Given the description of an element on the screen output the (x, y) to click on. 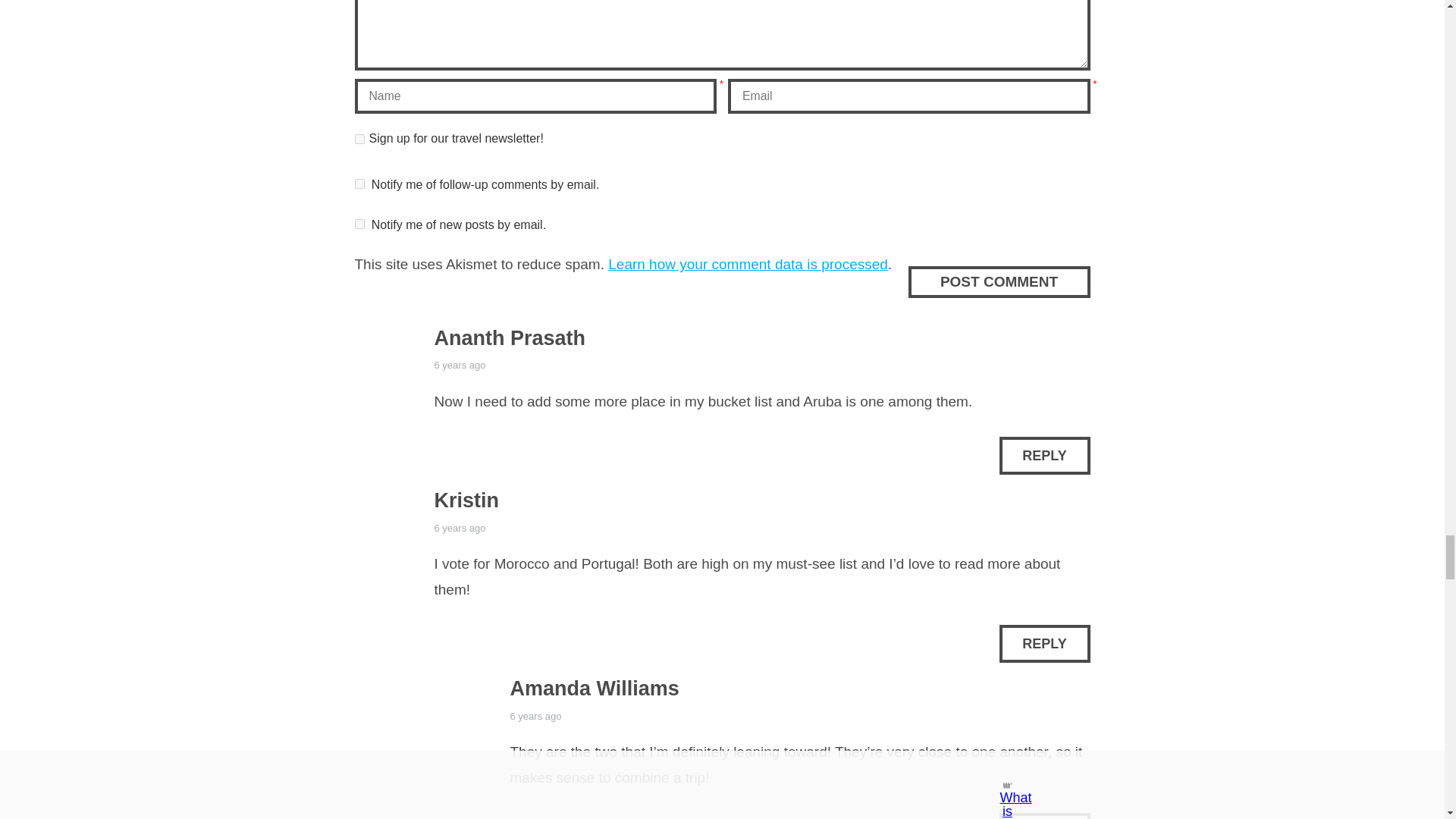
subscribe (360, 224)
subscribe (360, 184)
Post Comment (998, 281)
1 (360, 139)
